Given the description of an element on the screen output the (x, y) to click on. 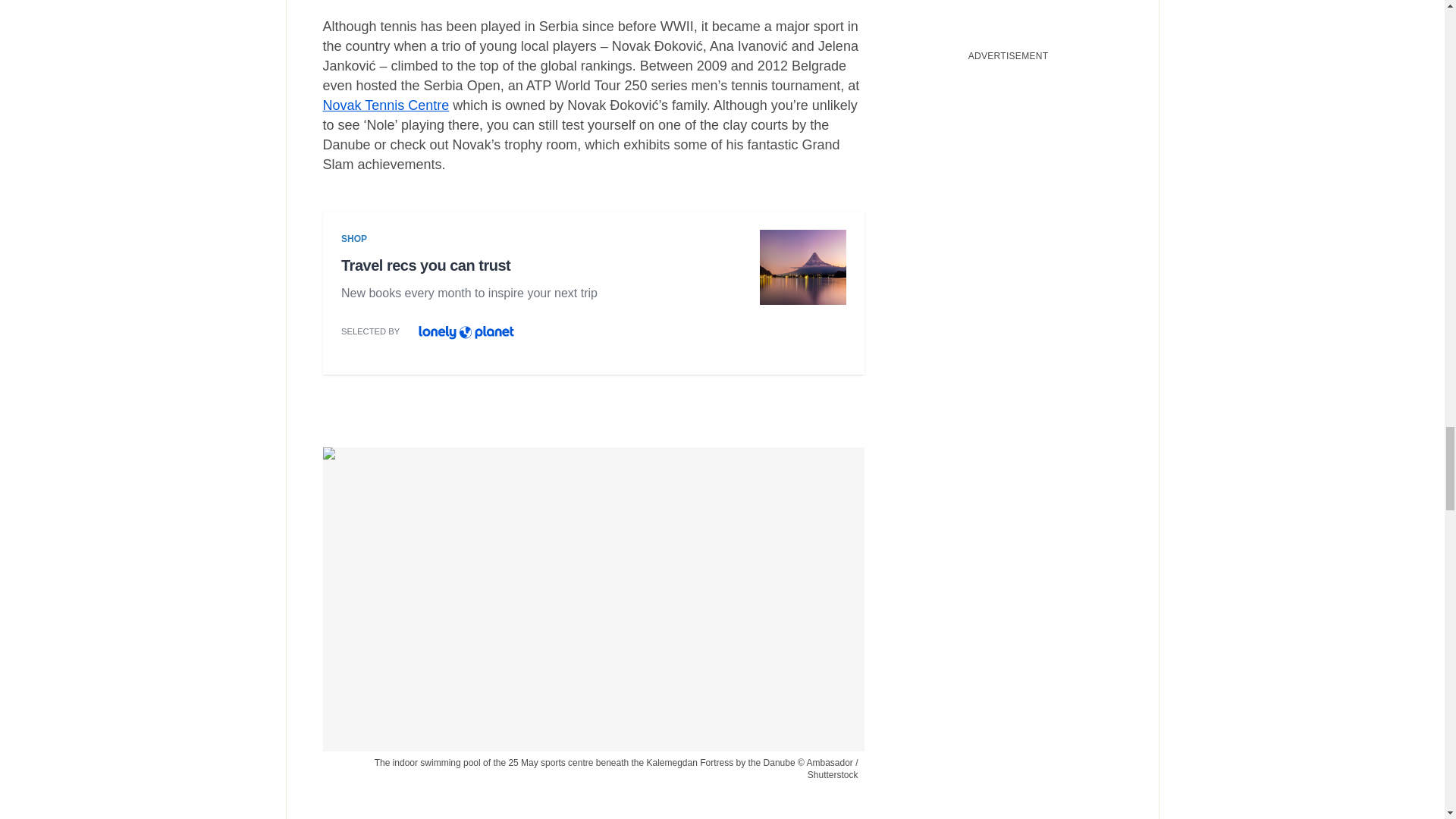
3rd party ad content (592, 297)
Novak Tennis Centre (386, 105)
